Given the description of an element on the screen output the (x, y) to click on. 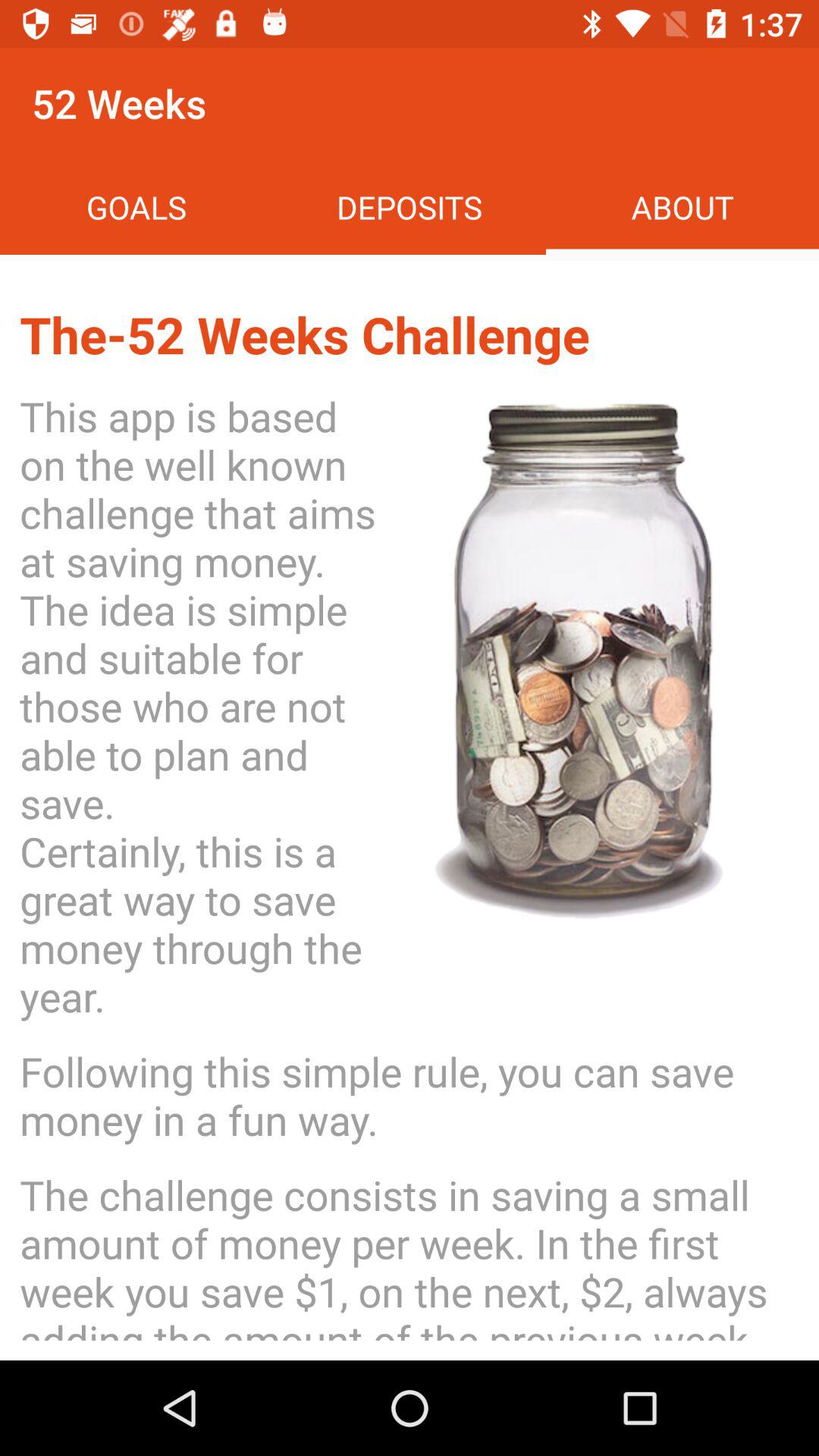
choose goals icon (136, 206)
